Given the description of an element on the screen output the (x, y) to click on. 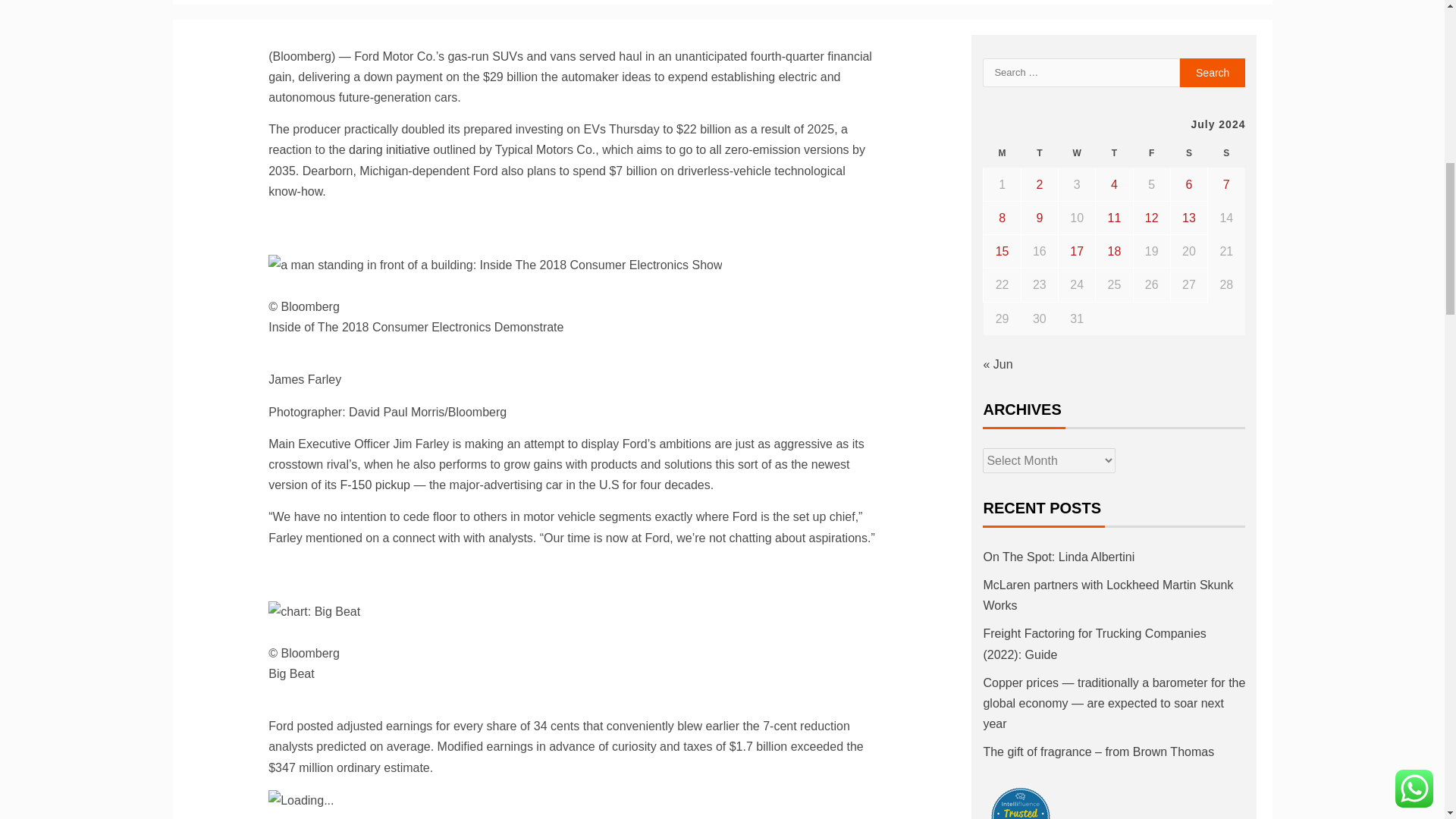
F-150 pickup (374, 484)
daring initiative (390, 149)
Monday (1002, 153)
Search (1212, 72)
Search (1212, 72)
